Given the description of an element on the screen output the (x, y) to click on. 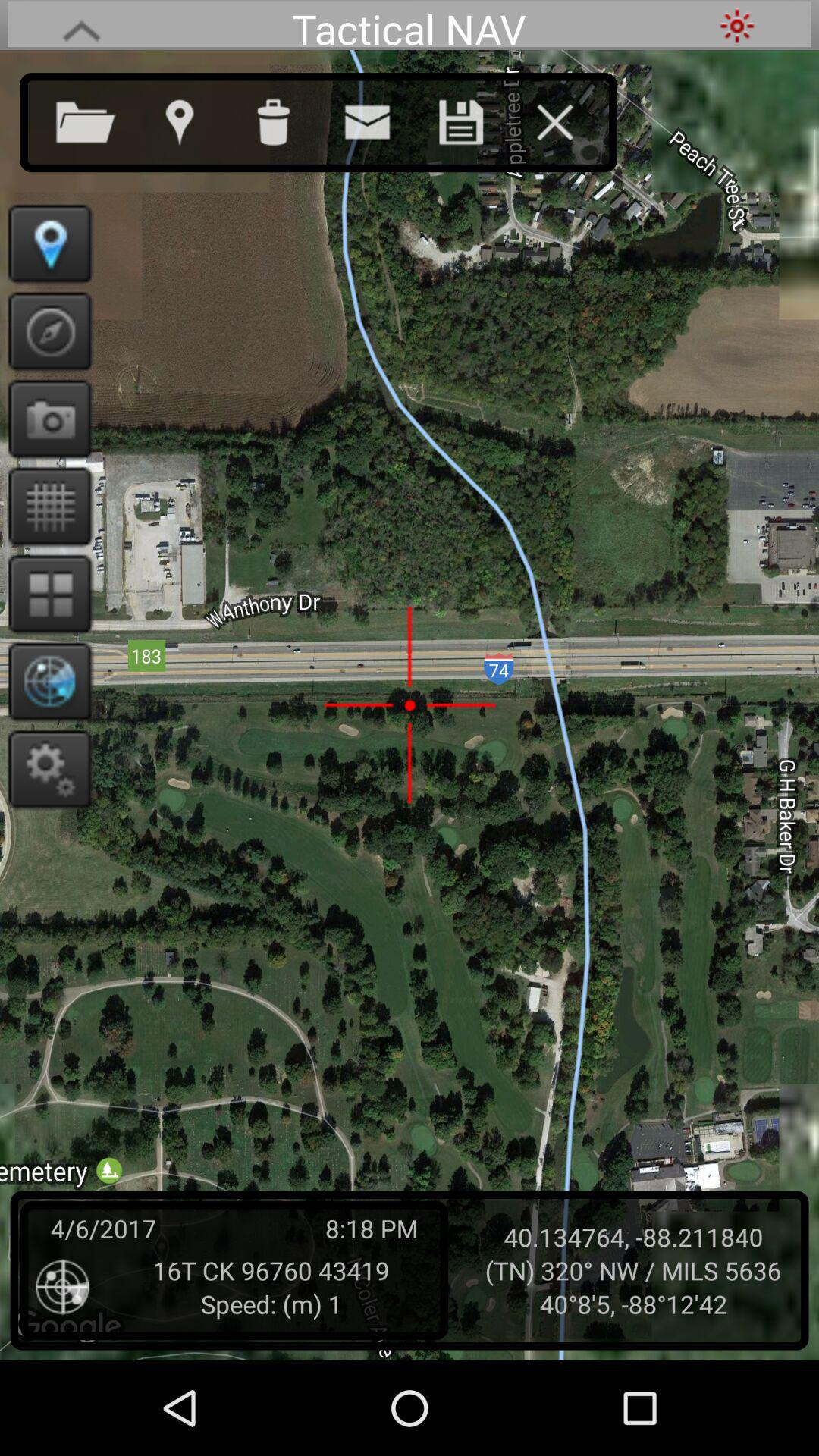
show location (45, 243)
